Given the description of an element on the screen output the (x, y) to click on. 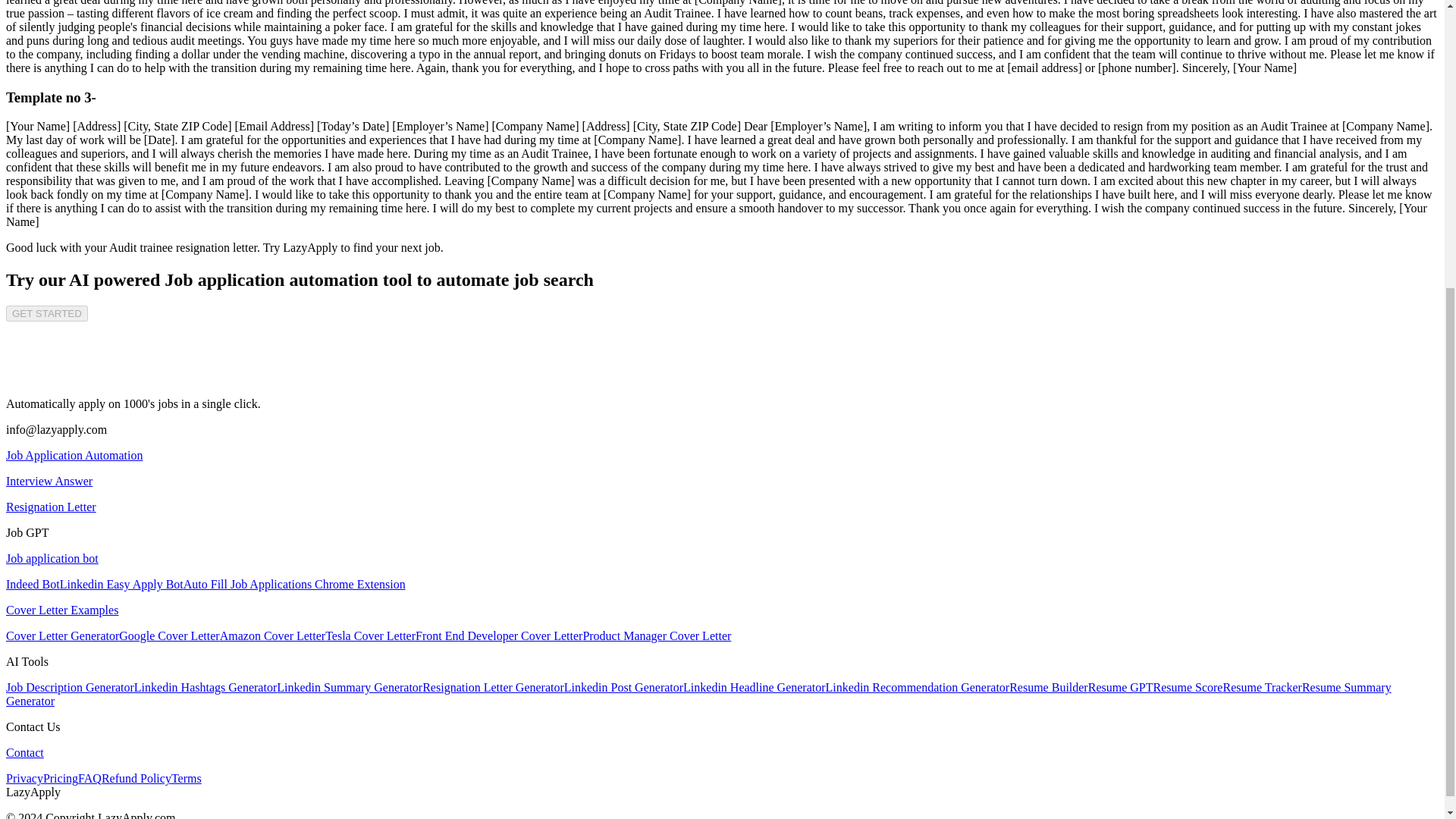
Refund Policy (136, 778)
Cover Letter Examples (61, 609)
Linkedin Recommendation Generator (917, 686)
Front End Developer Cover Letter (498, 635)
Indeed Bot (32, 584)
Linkedin Easy Apply Bot (121, 584)
Pricing (60, 778)
Cover Letter Generator (62, 635)
Linkedin Post Generator (623, 686)
Privacy (24, 778)
Interview Answer (49, 481)
Linkedin Headline Generator (753, 686)
Linkedin Hashtags Generator (204, 686)
FAQ (89, 778)
Resignation Letter Generator (493, 686)
